Given the description of an element on the screen output the (x, y) to click on. 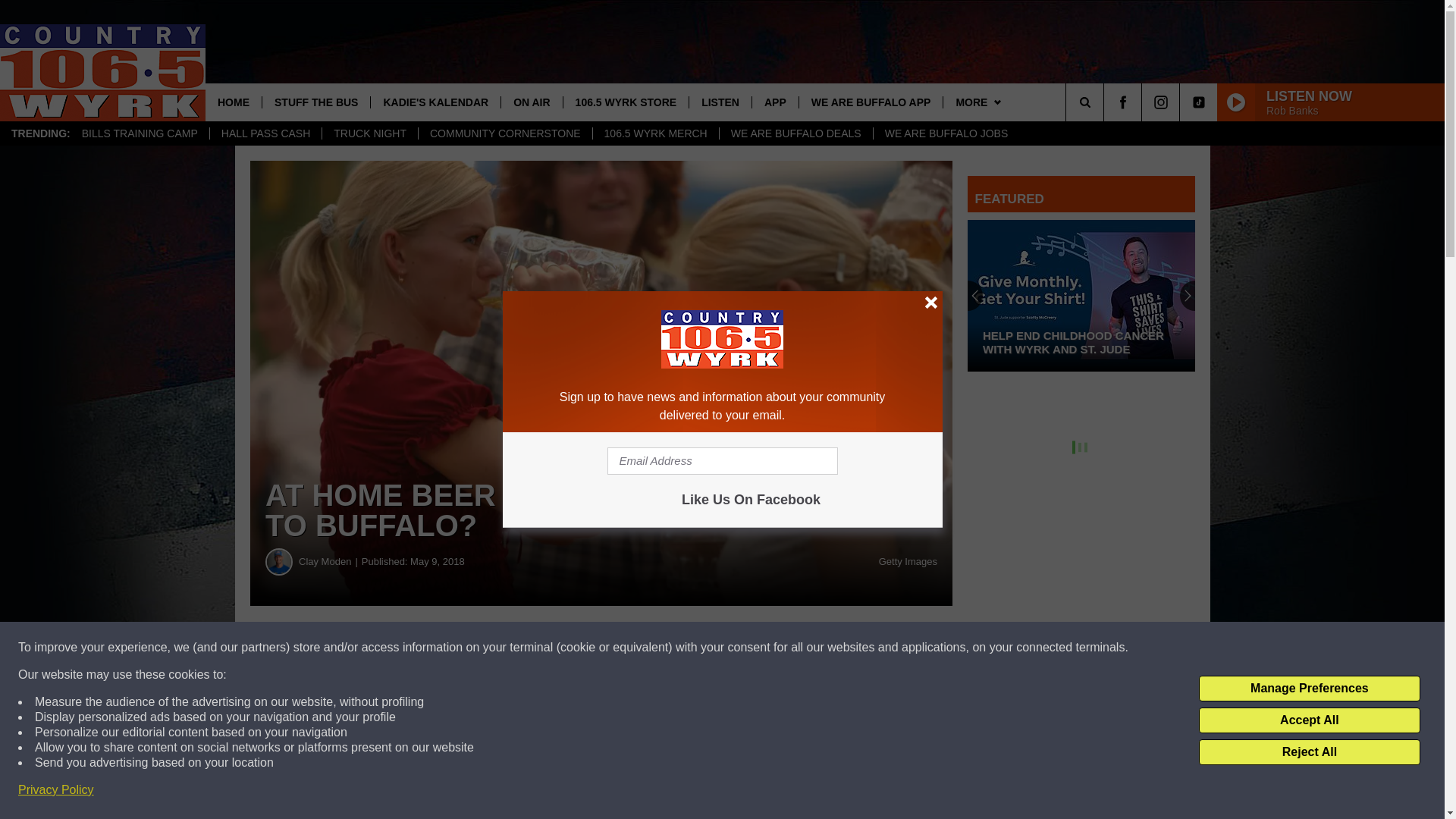
106.5 WYRK STORE (625, 102)
BILLS TRAINING CAMP (139, 133)
KADIE'S KALENDAR (434, 102)
SEARCH (1106, 102)
Manage Preferences (1309, 688)
Share on Facebook (600, 647)
APP (774, 102)
Reject All (1309, 751)
106.5 WYRK MERCH (655, 133)
HOME (233, 102)
Accept All (1309, 720)
ON AIR (531, 102)
COMMUNITY CORNERSTONE (504, 133)
SEARCH (1106, 102)
Email Address (722, 461)
